Given the description of an element on the screen output the (x, y) to click on. 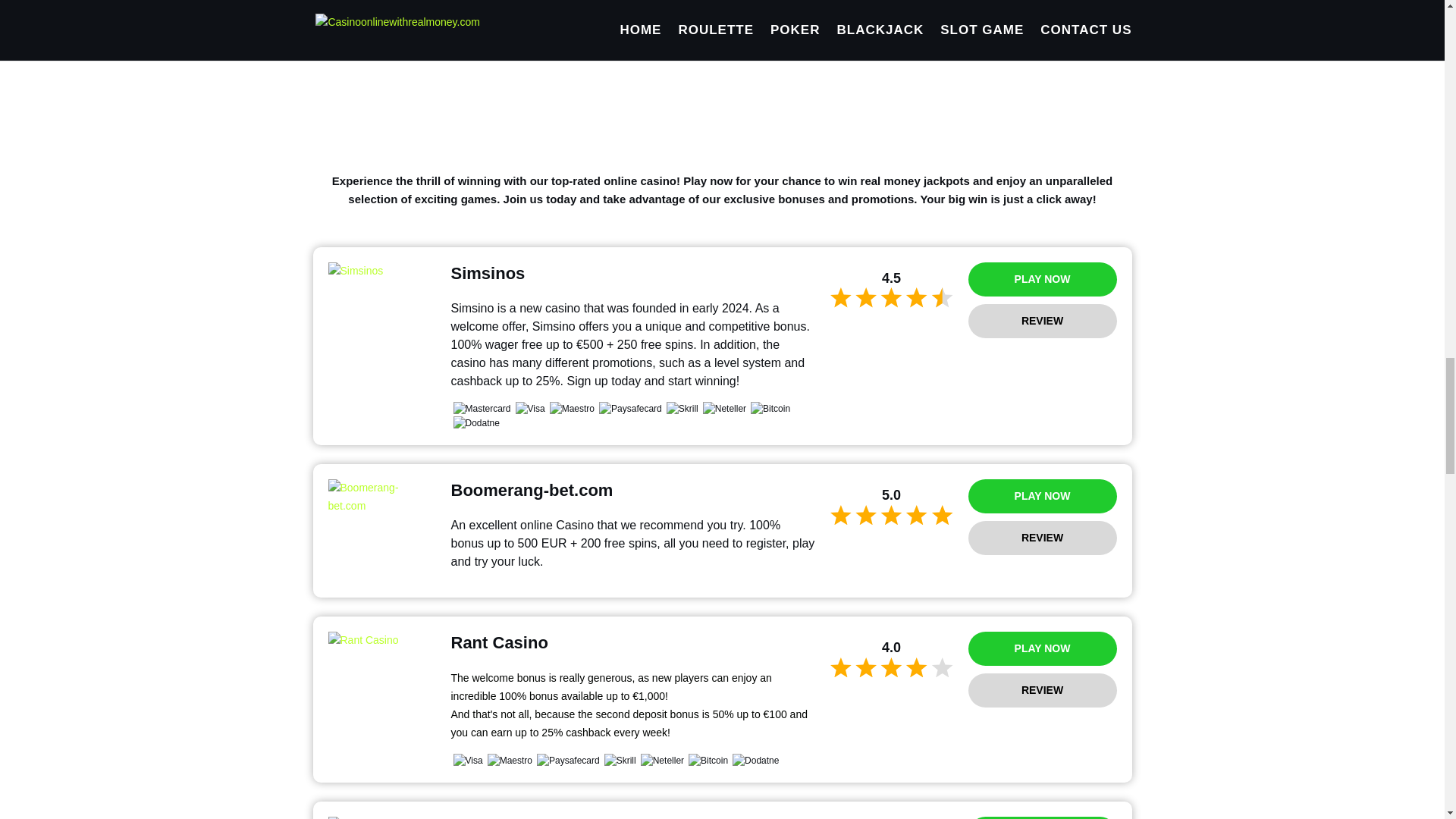
Dodatne (475, 422)
Paysafecard (630, 408)
REVIEW (1042, 690)
Mastercard (481, 408)
Maestro (509, 760)
Visa (529, 408)
Rant Casino (381, 640)
PLAY NOW (1042, 817)
Boomerang-bet.com (381, 497)
Skrill (682, 408)
